Given the description of an element on the screen output the (x, y) to click on. 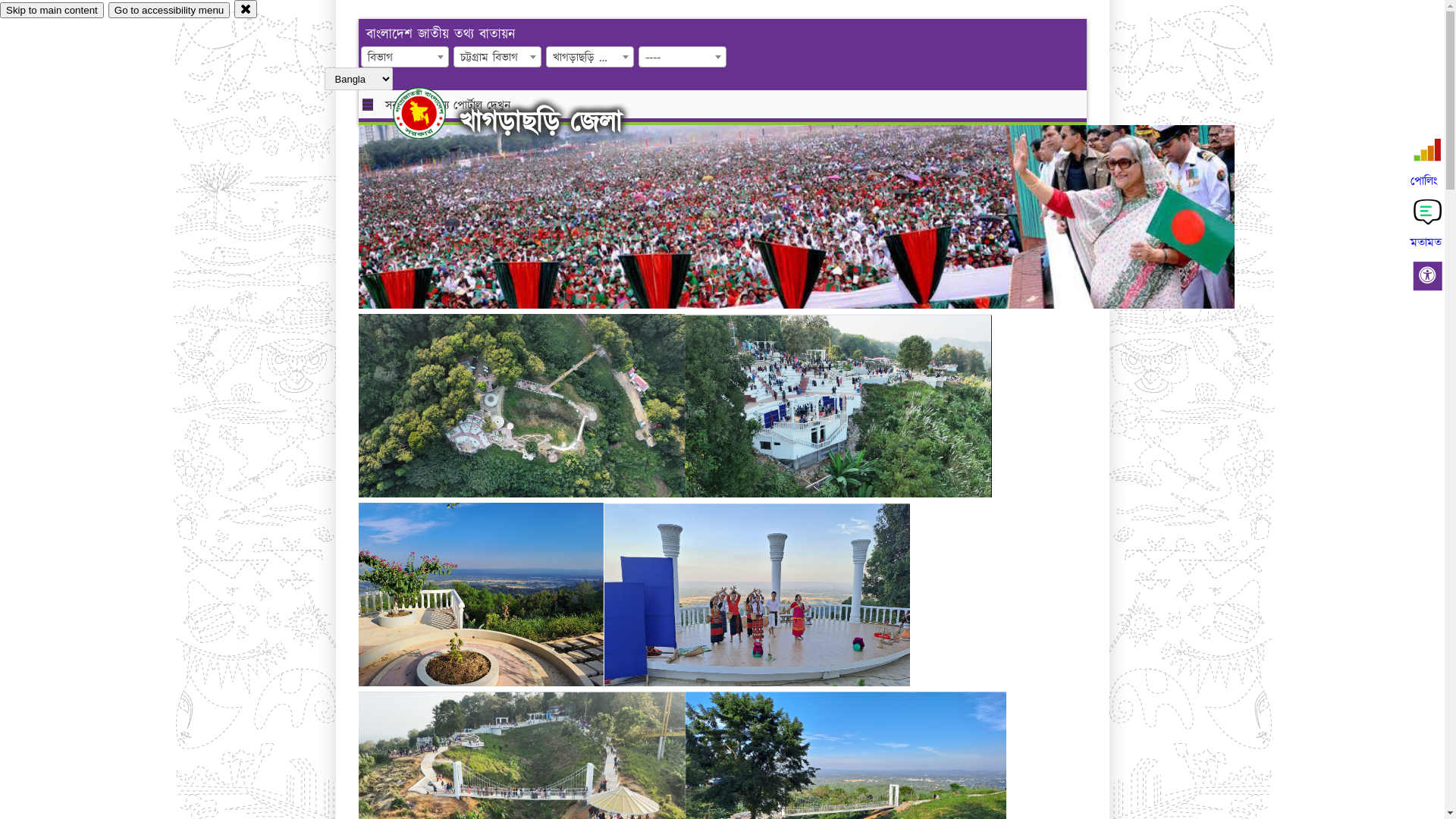

                
             Element type: hover (431, 112)
Go to accessibility menu Element type: text (168, 10)
Skip to main content Element type: text (51, 10)
close Element type: hover (245, 9)
